Given the description of an element on the screen output the (x, y) to click on. 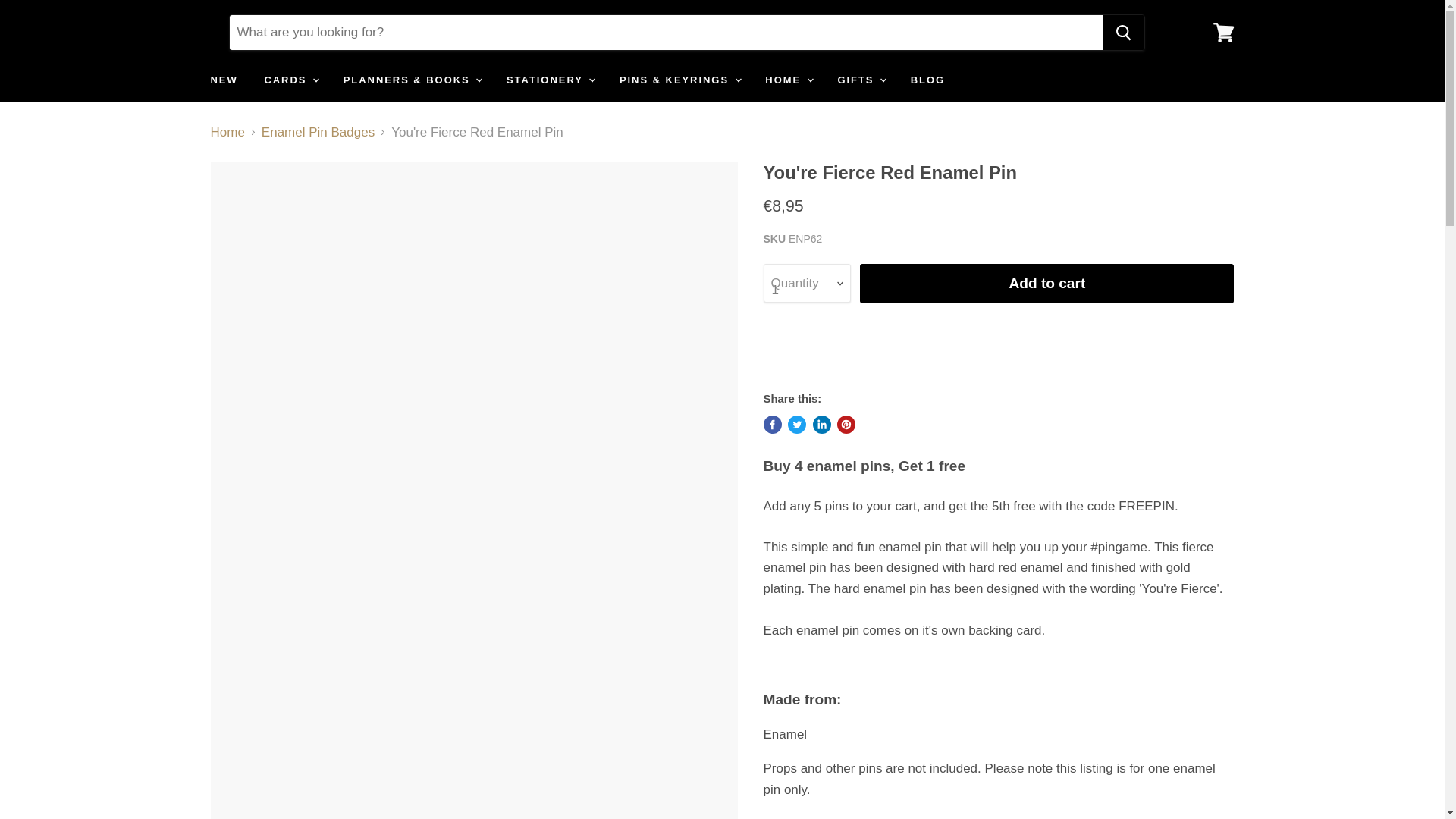
STATIONERY (549, 79)
View cart (1223, 32)
CARDS (290, 79)
NEW (223, 79)
